Given the description of an element on the screen output the (x, y) to click on. 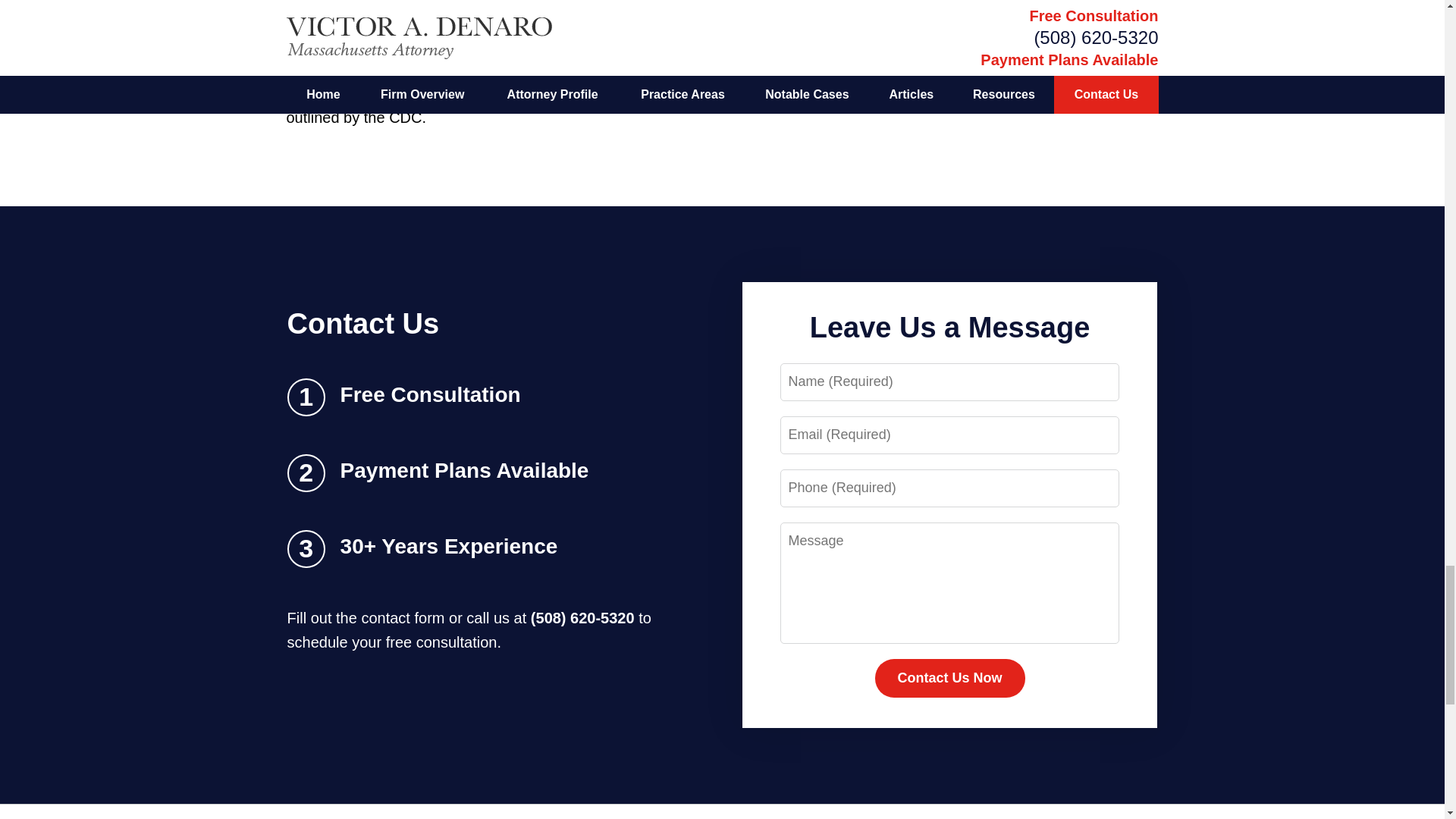
call our office (411, 68)
Contact Us Now (950, 678)
